Given the description of an element on the screen output the (x, y) to click on. 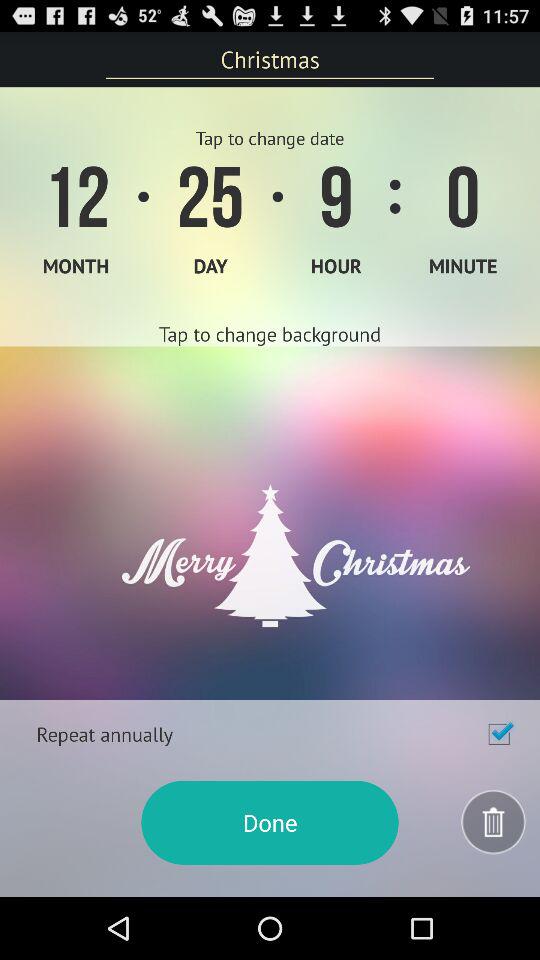
click the item below the repeat annually icon (269, 822)
